Given the description of an element on the screen output the (x, y) to click on. 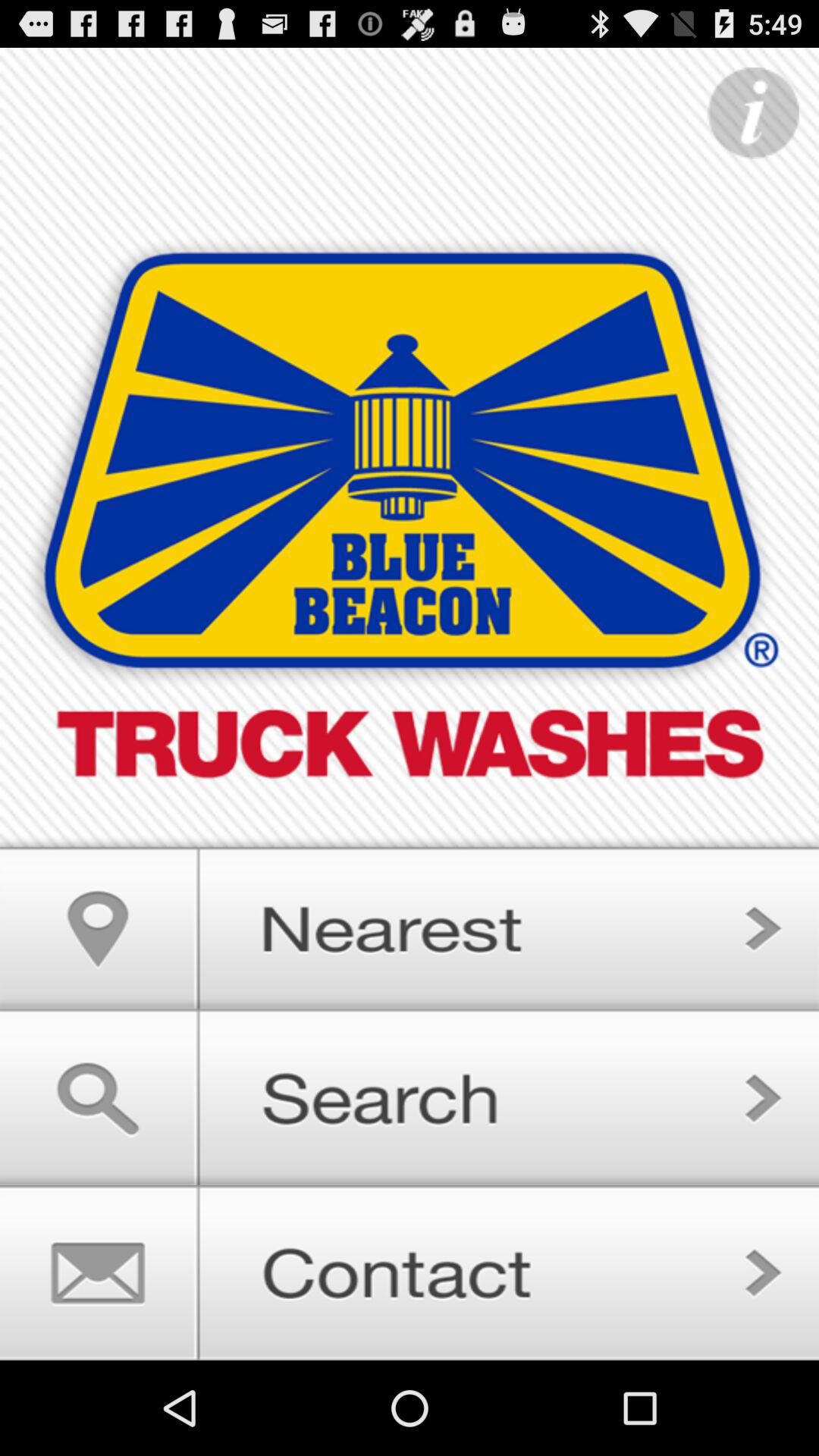
view more information (753, 113)
